Given the description of an element on the screen output the (x, y) to click on. 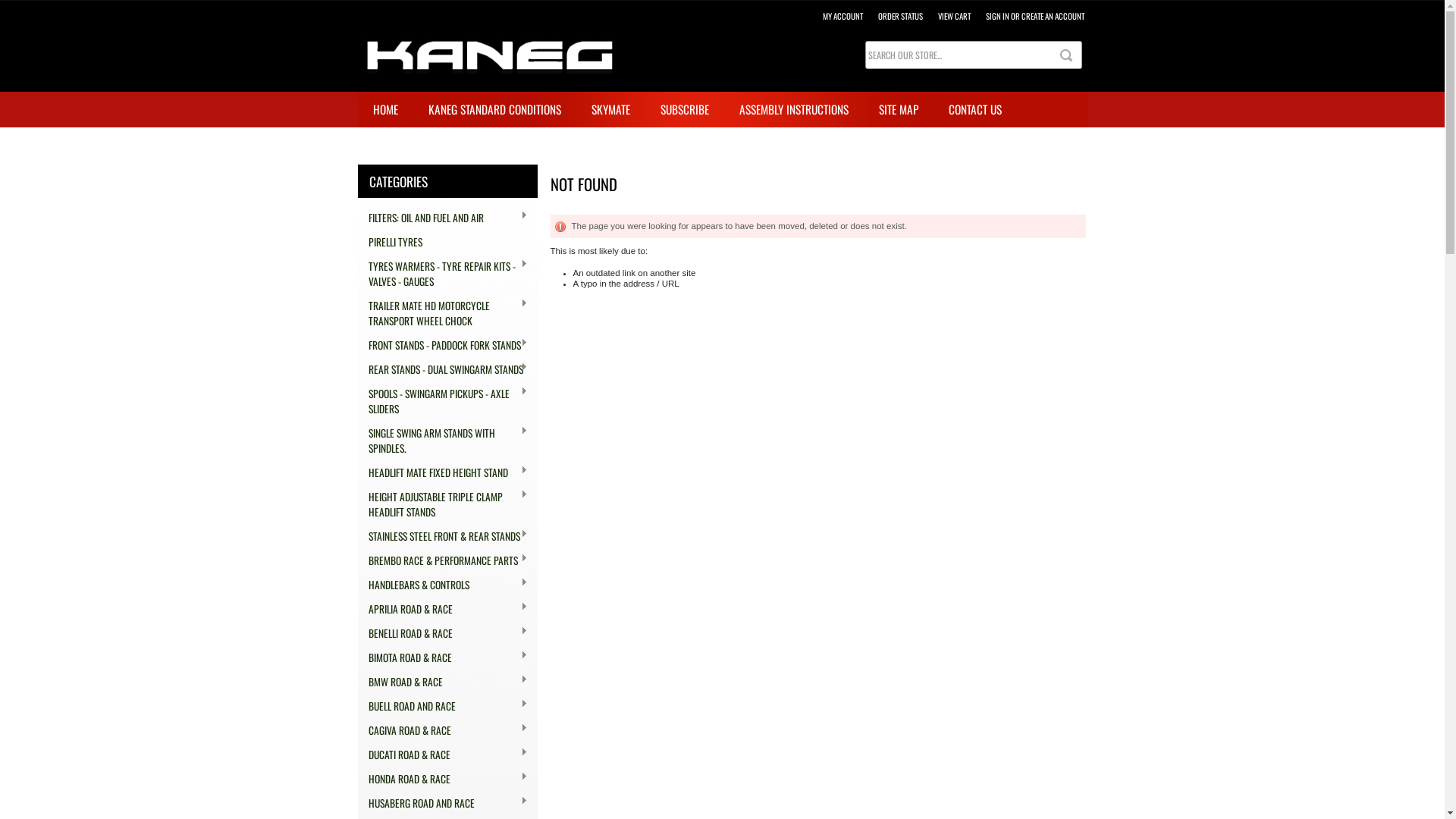
KANEG STANDARD CONDITIONS Element type: text (493, 109)
CONTACT US Element type: text (974, 109)
VIEW CART Element type: text (953, 15)
PIRELLI TYRES Element type: text (446, 241)
SHIPPING & RETURNS Element type: text (493, 146)
CREATE AN ACCOUNT Element type: text (1051, 15)
HOME Element type: text (385, 109)
FACEBOOK Element type: text (395, 146)
ORDER STATUS Element type: text (900, 15)
SKYMATE Element type: text (610, 109)
SIGN IN Element type: text (997, 15)
SITE MAP Element type: text (897, 109)
ASSEMBLY INSTRUCTIONS Element type: text (792, 109)
SUBSCRIBE Element type: text (683, 109)
MY ACCOUNT Element type: text (841, 15)
